Given the description of an element on the screen output the (x, y) to click on. 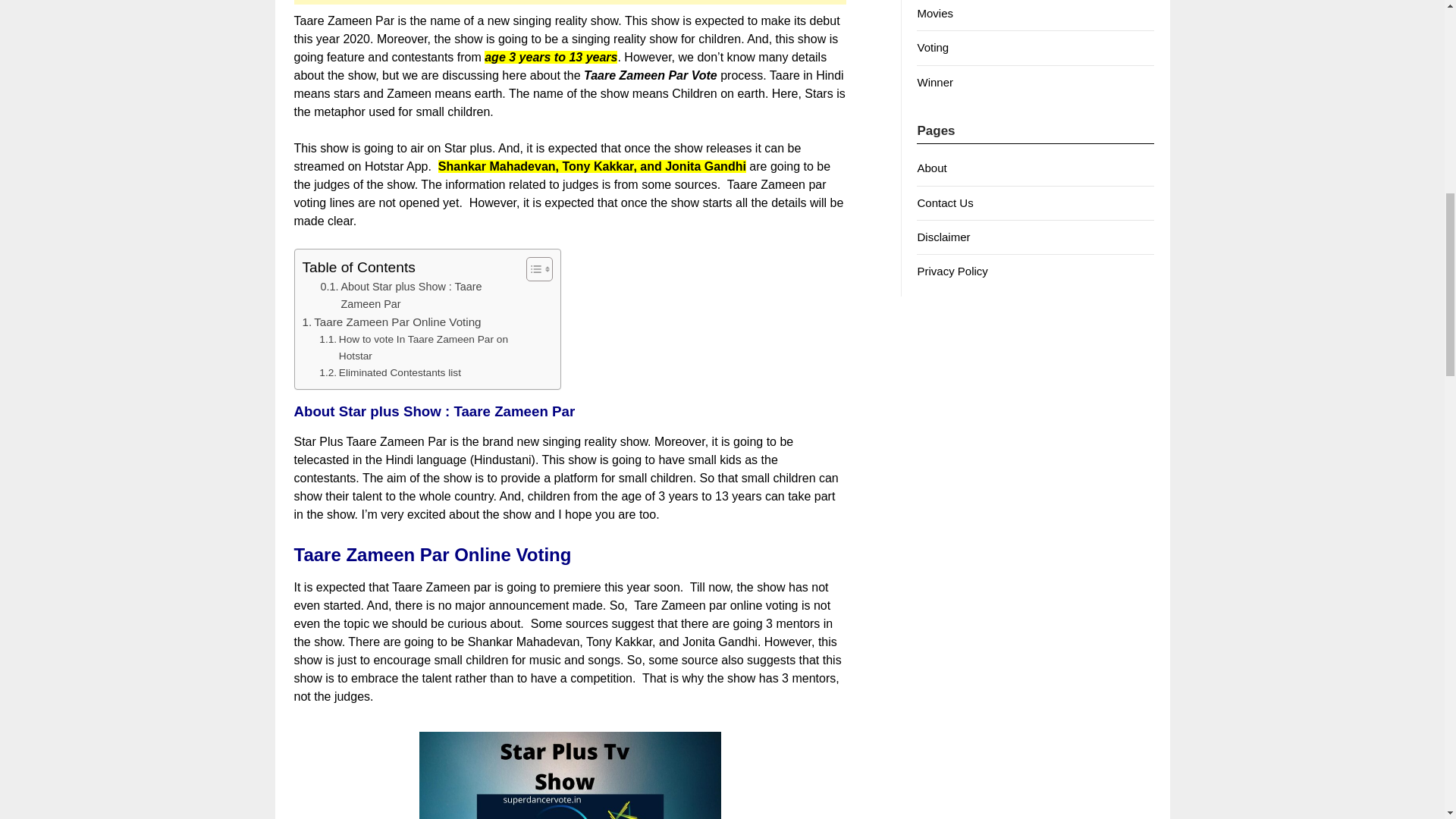
About Star plus Show : Taare Zameen Par (419, 295)
Winner (935, 82)
How to vote In Taare Zameen Par on Hotstar (418, 347)
Eliminated Contestants list (389, 372)
How to vote In Taare Zameen Par on Hotstar (418, 347)
Movies (935, 12)
Taare Zameen Par Online Voting (390, 321)
Eliminated Contestants list (389, 372)
Contact Us (944, 202)
Privacy Policy (952, 270)
About (931, 167)
Taare Zameen Par Online Voting (390, 321)
Voting (933, 47)
About Star plus Show : Taare Zameen Par (419, 295)
